Given the description of an element on the screen output the (x, y) to click on. 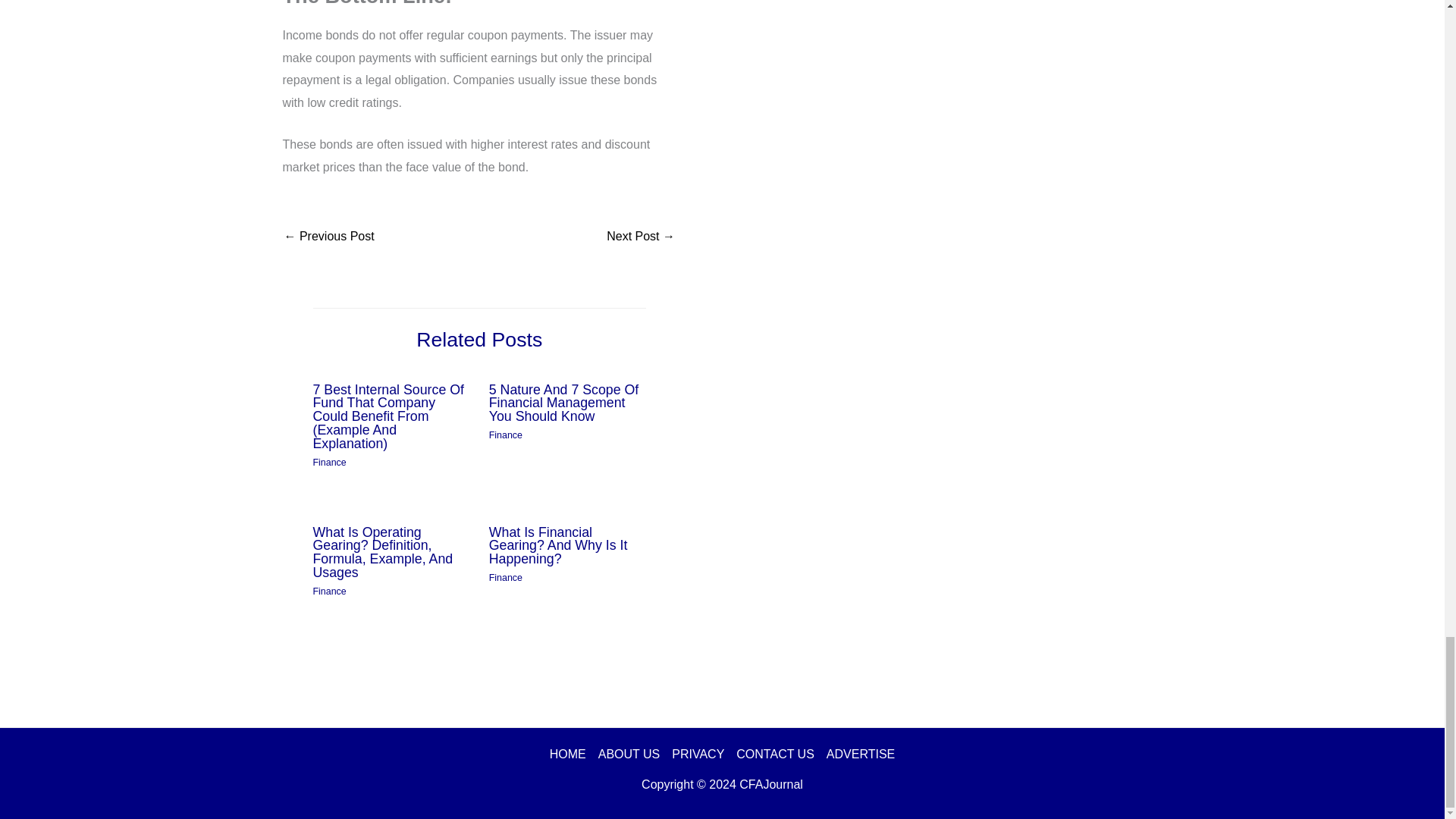
5 Important Borrowing Terminologies You Should Know (641, 237)
